Given the description of an element on the screen output the (x, y) to click on. 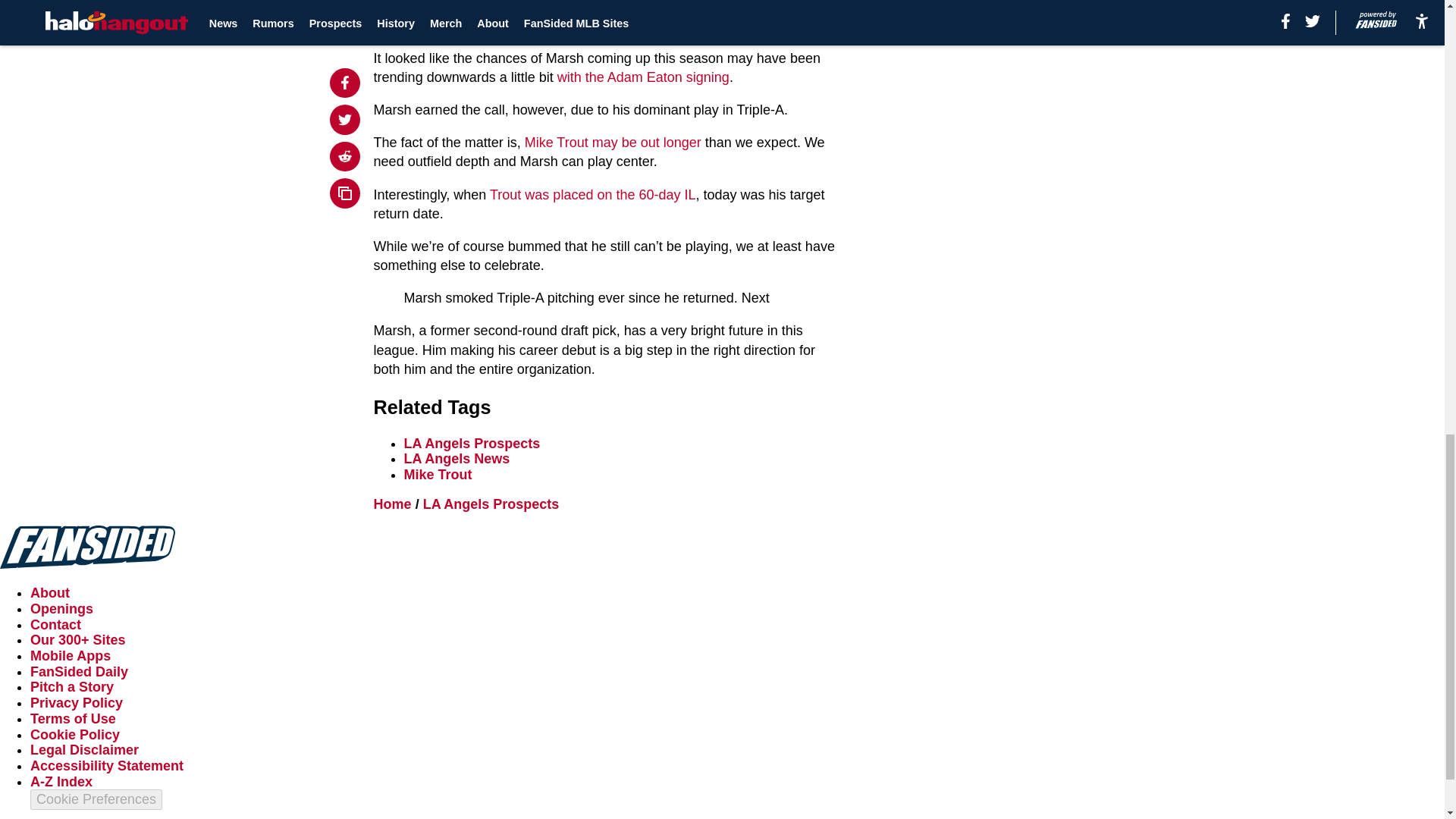
LA Angels Prospects (472, 443)
Trout was placed on the 60-day IL (592, 193)
Home (393, 503)
Mike Trout (437, 474)
Mike Trout may be out longer (612, 142)
with the Adam Eaton signing (643, 77)
LA Angels News (457, 458)
LA Angels Prospects (491, 503)
